Given the description of an element on the screen output the (x, y) to click on. 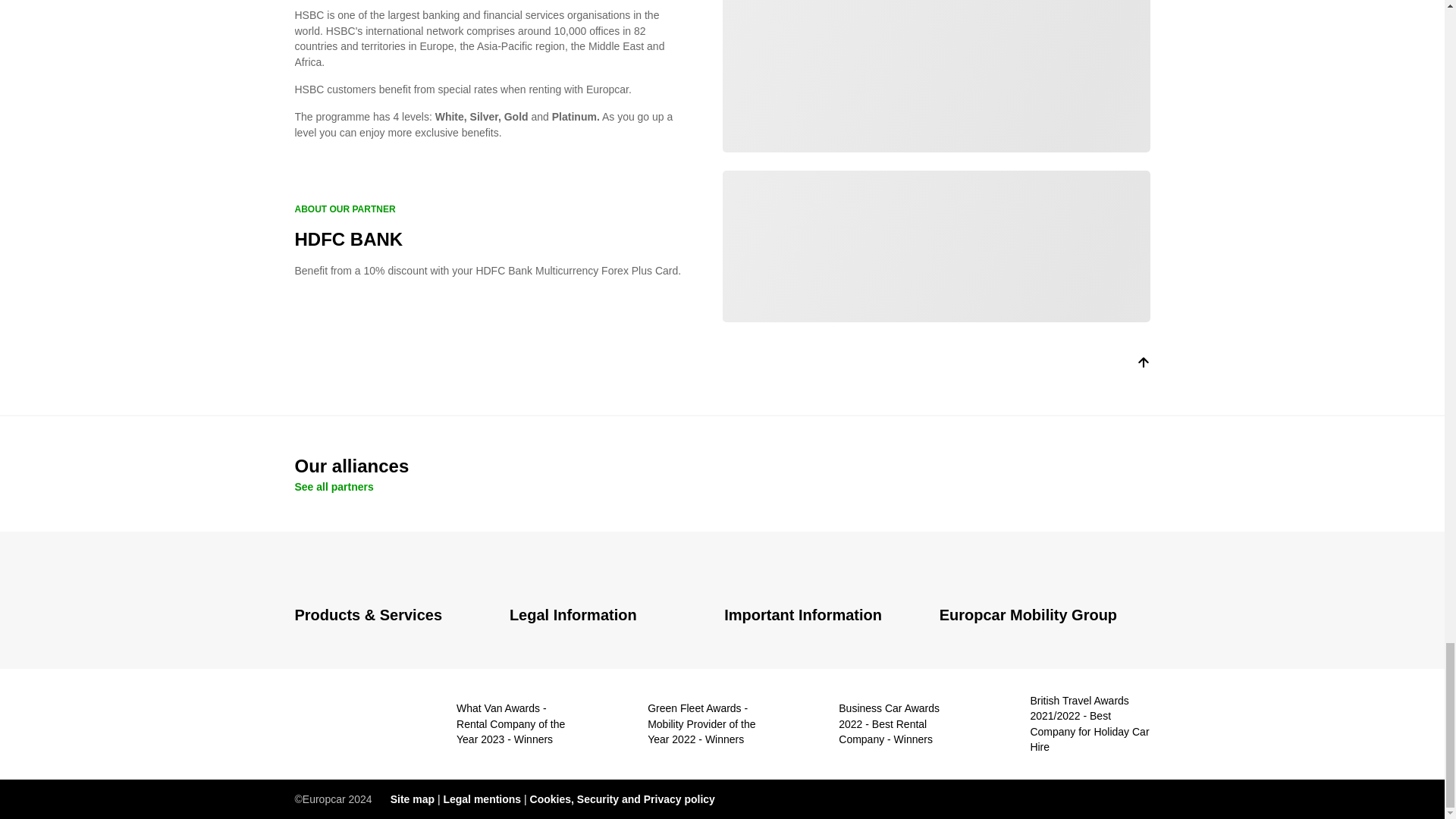
Our alliances (722, 465)
Legal Information (607, 615)
See all partners (333, 486)
top (1142, 364)
Important Information (821, 615)
Europcar Mobility Group (1044, 615)
